Given the description of an element on the screen output the (x, y) to click on. 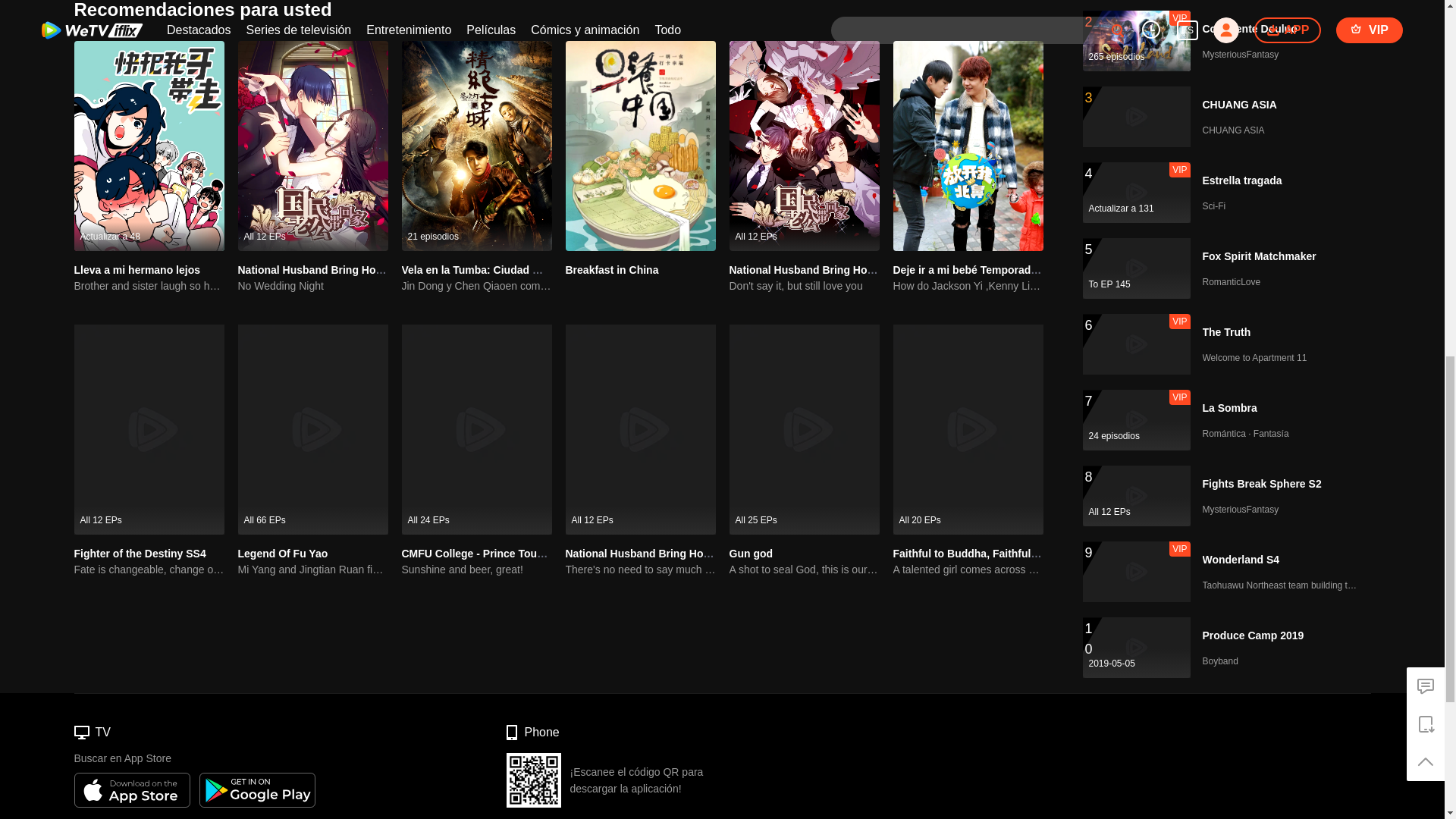
Brother and sister laugh so hard everyday. (149, 286)
Fighter of the Destiny SS4 (140, 553)
Jin Dong y Chen Qiaoen comienzaron una aventura (476, 286)
No Wedding Night (313, 286)
National Husband Bring Home SS2 (817, 269)
Don't say it, but still love you (804, 286)
National Husband Bring Home SS1 (326, 269)
Breakfast in China (612, 269)
Vela en la Tumba: Ciudad Misteriosa (493, 269)
